Given the description of an element on the screen output the (x, y) to click on. 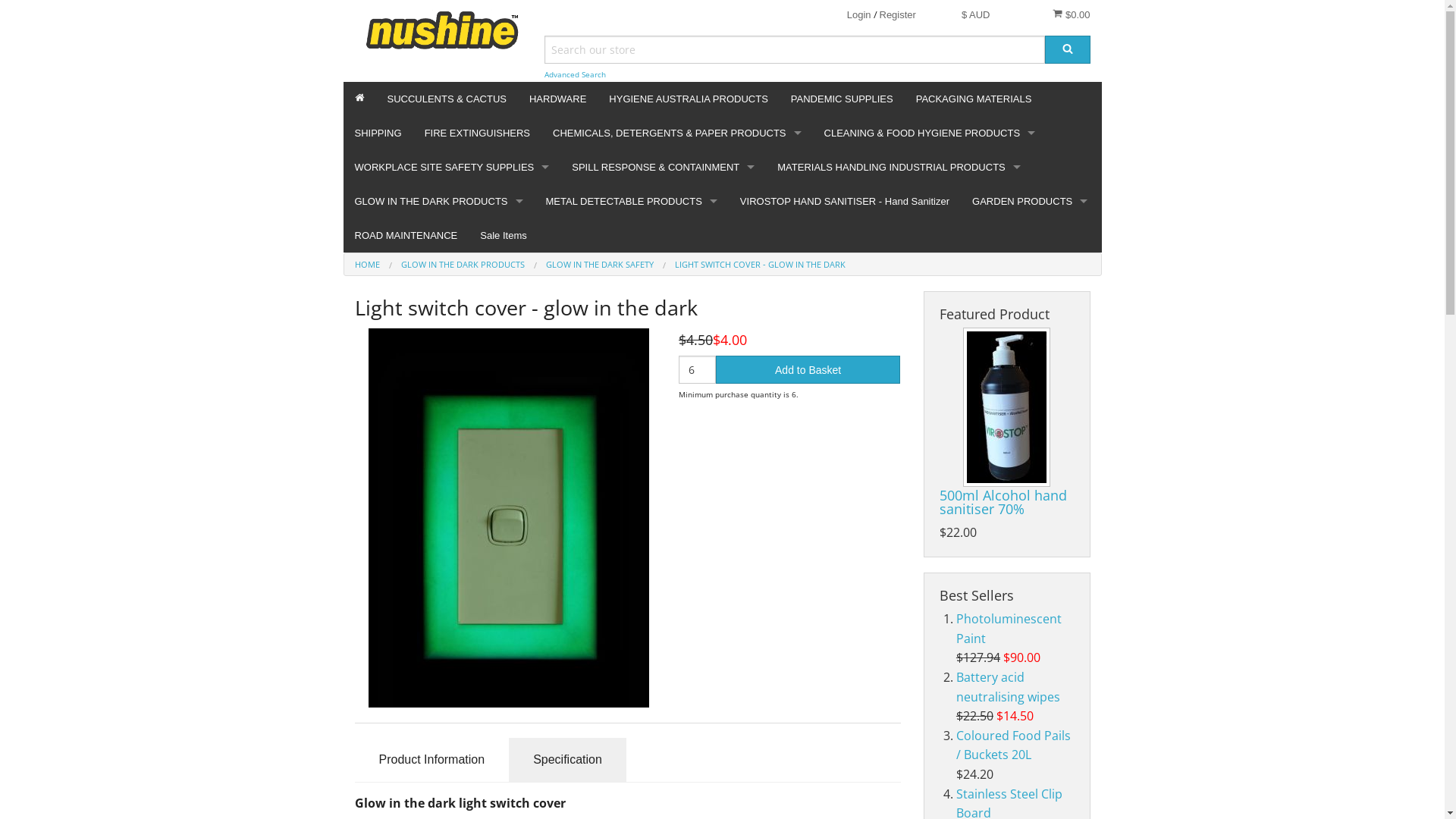
Spill Kits Element type: text (662, 254)
GLOW IN THE DARK PRODUCTS Element type: text (437, 201)
SHIPPING Element type: text (377, 133)
INDOOR SPILL PRODUCTS FOR PUBS & SHOPPING CENTRES Element type: text (662, 220)
Industrial Products Element type: text (898, 220)
MATERIALS HANDLING INDUSTRIAL PRODUCTS Element type: text (898, 167)
Glow jewellery Element type: text (437, 561)
500ml Alcohol hand sanitiser 70% Element type: text (1002, 501)
Metal Detectable First Aid Element type: text (631, 527)
Work Clothing & Footwear Element type: text (451, 424)
VIROSTOP HAND SANITISER - Hand Sanitizer Element type: text (844, 201)
GARDEN & HOME DECOR Element type: text (1029, 254)
Plastic Goods Element type: text (898, 254)
$0.00 Element type: text (1070, 14)
Product Information Element type: text (431, 759)
Gloves Element type: text (451, 220)
Add to Basket Element type: text (807, 369)
SpillVac Air Operated Vaccum Element type: text (662, 356)
Home Element type: hover (358, 98)
Photoluminescent raw materials Element type: text (437, 288)
Brooms & Floor Tools Element type: text (929, 288)
Handles & Accessories Element type: text (929, 322)
Metal Detectable Gloves Element type: text (631, 322)
Metal Detectable Shovels Element type: text (631, 288)
Industrial Products Element type: text (676, 254)
Glow in the dark signs Element type: text (437, 697)
MAGIC MUD HAND CLEANER Element type: text (676, 186)
LIGHT SWITCH COVER - GLOW IN THE DARK Element type: text (759, 263)
Mop Buckets & Accessories Element type: text (929, 356)
Advanced Search Element type: text (574, 74)
GARDEN PRODUCTS Element type: text (1029, 201)
LED Lighting Products Element type: text (437, 356)
CLEANING & FOOD HYGIENE PRODUCTS Element type: text (929, 133)
Metal Detectable Hand Scoops Element type: text (631, 493)
CHEMICALS, DETERGENTS & PAPER PRODUCTS Element type: text (676, 133)
Battery acid neutralising wipes Element type: text (1008, 686)
Glow in the dark costumes Element type: text (437, 254)
HOME Element type: text (366, 263)
Cleaning Signs & Barriers Element type: text (929, 424)
Spill Absorbents & Binders Element type: text (662, 288)
Register Element type: text (897, 14)
Glow in the dark Art & Furniture Element type: text (437, 595)
Metal Detectable Hair Nets Element type: text (631, 356)
Sale Items Element type: text (502, 235)
Login Element type: text (859, 14)
SPILL RESPONSE & CONTAINMENT Element type: text (662, 167)
Metal Detectable Scrapers Element type: text (631, 459)
Glow in the Dark Powders Element type: text (437, 493)
Glow in the dark paint Element type: text (437, 459)
500ml Alcohol hand sanitiser 70% Element type: hover (1006, 407)
Pens & Markers Element type: text (631, 254)
METAL DETECTABLE PRODUCTS Element type: text (631, 201)
ROAD MAINTENANCE Element type: text (405, 235)
STATUES & SCULPTURES Element type: text (1029, 288)
Air Fresheners Element type: text (929, 390)
Glow in the Dark Clothing & fabric Element type: text (437, 663)
HARDWARE Element type: text (557, 98)
Garden Glow products Element type: text (437, 629)
Metal Detectable Jugs Element type: text (631, 561)
WORKPLACE SITE SAFETY SUPPLIES Element type: text (451, 167)
Glow in the dark novelties and toys Element type: text (437, 390)
Eyewear Element type: text (451, 356)
FIRE EXTINGUISHERS Element type: text (477, 133)
Respiratory Protection Element type: text (451, 288)
Spill Pads & Rolls Element type: text (662, 322)
Toilet Roll & Hand Towel Element type: text (676, 220)
Stapler and Clip Board Element type: text (631, 424)
PACKAGING MATERIALS Element type: text (973, 98)
SUCCULENTS & CACTUS Element type: text (446, 98)
Vikan Hygiene Element type: text (929, 186)
Glow in the dark tape Element type: text (437, 527)
Spill Containment Element type: text (662, 390)
GLOW IN THE DARK SAFETY Element type: text (599, 263)
Coloured Food Pails / Buckets 20L Element type: text (1013, 745)
Glow in the dark safety Element type: text (437, 322)
Buckets & Pails Element type: text (929, 220)
Road & Site Safety Element type: text (451, 322)
$ AUD Element type: text (975, 14)
Specification Element type: text (567, 759)
Bins & Liners Element type: text (929, 254)
HYGIENE AUSTRALIA PRODUCTS Element type: text (688, 98)
Glow in the dark Vinyl Element type: text (437, 424)
Search Element type: text (1067, 49)
Photoluminescent Paint Element type: text (1008, 628)
Hearing Protection Element type: text (451, 254)
GLOW IN THE DARK PRODUCTS Element type: text (462, 263)
Sunscreen Lotions Element type: text (451, 390)
PANDEMIC SUPPLIES Element type: text (841, 98)
Cable Ties Element type: text (631, 390)
